Given the description of an element on the screen output the (x, y) to click on. 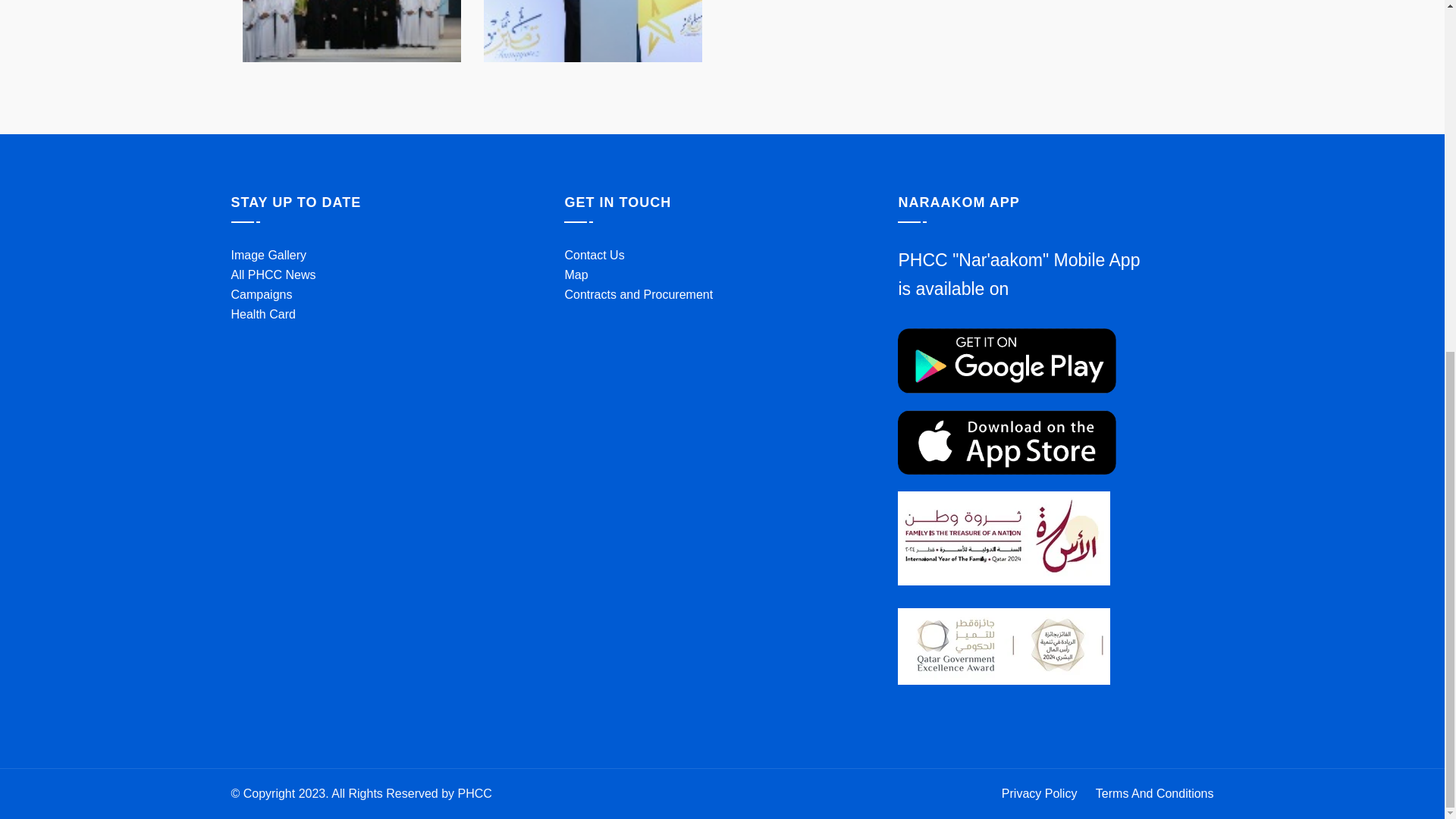
FamilyLogo (1003, 538)
